Given the description of an element on the screen output the (x, y) to click on. 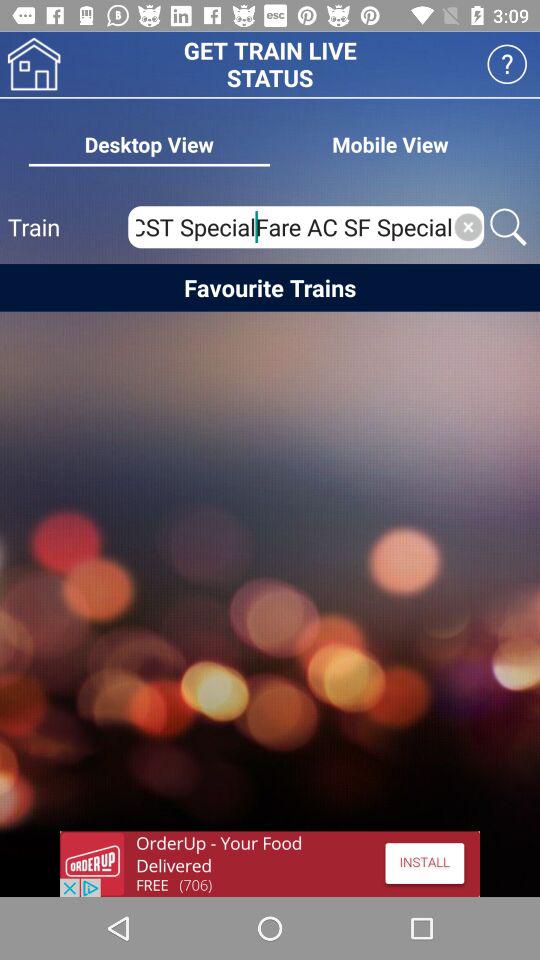
house (33, 63)
